Given the description of an element on the screen output the (x, y) to click on. 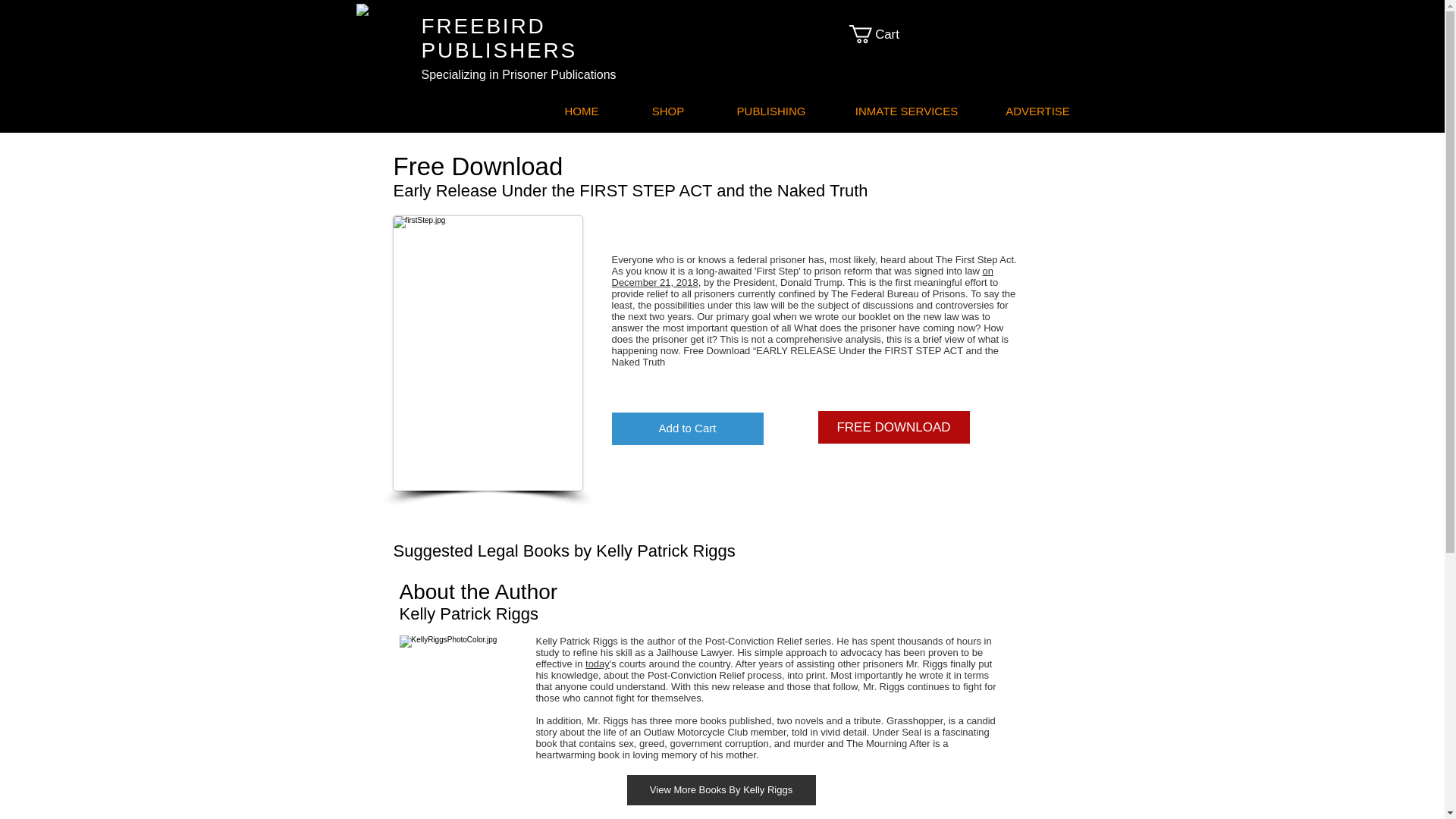
SHOP (667, 110)
PUBLISHING (770, 110)
INMATE SERVICES (905, 110)
Cart (882, 34)
HOME (582, 110)
Cart (882, 34)
